Given the description of an element on the screen output the (x, y) to click on. 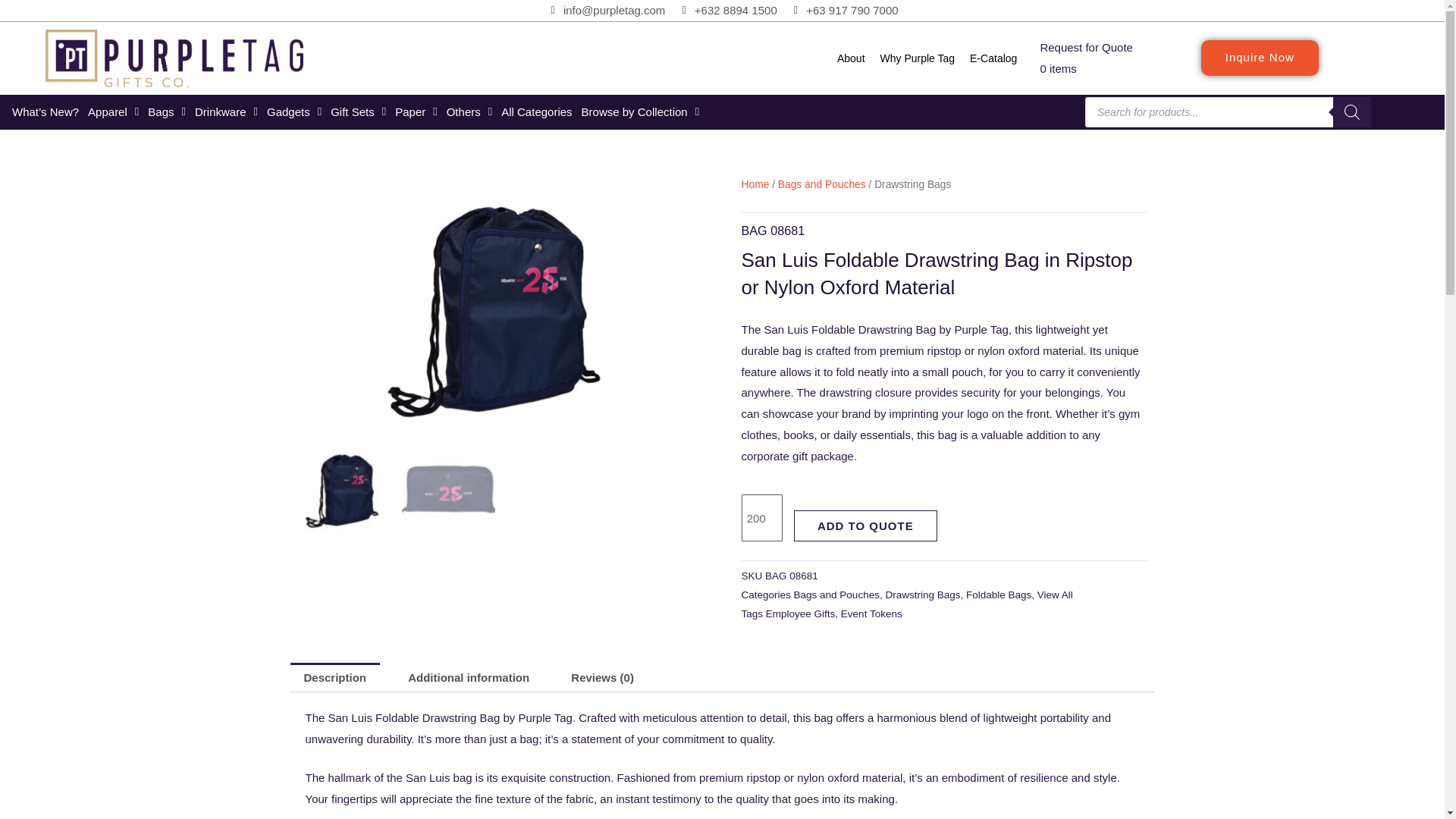
Gadgets (294, 112)
About (850, 58)
Bags (166, 112)
Inquire Now (1260, 58)
E-Catalog (993, 58)
Request for Quote (1085, 47)
Why Purple Tag (917, 58)
Apparel (112, 112)
Drinkware (226, 112)
0 items (1057, 68)
